Given the description of an element on the screen output the (x, y) to click on. 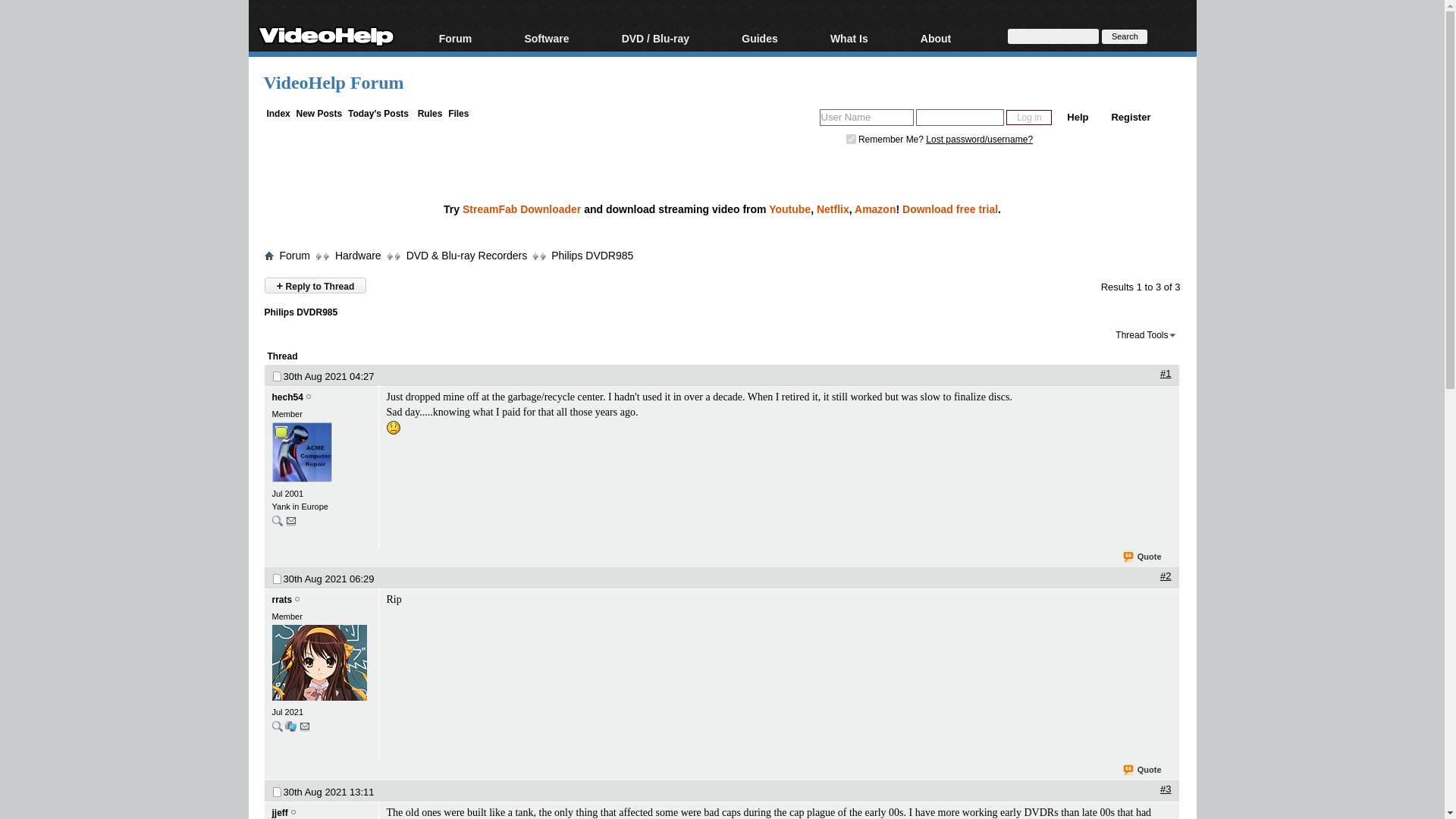
Users posts: 747 (276, 726)
1 (850, 139)
Log in (1028, 117)
Index (277, 113)
Users posts: 14,678 (276, 523)
PM (291, 520)
hech54 is offline (308, 397)
Home (268, 255)
What Is (867, 40)
Search (1124, 35)
Users posts: 14,678 (276, 520)
Reload this Page (300, 312)
rrats is offline (281, 599)
VideoHelp (325, 33)
About (953, 40)
